Given the description of an element on the screen output the (x, y) to click on. 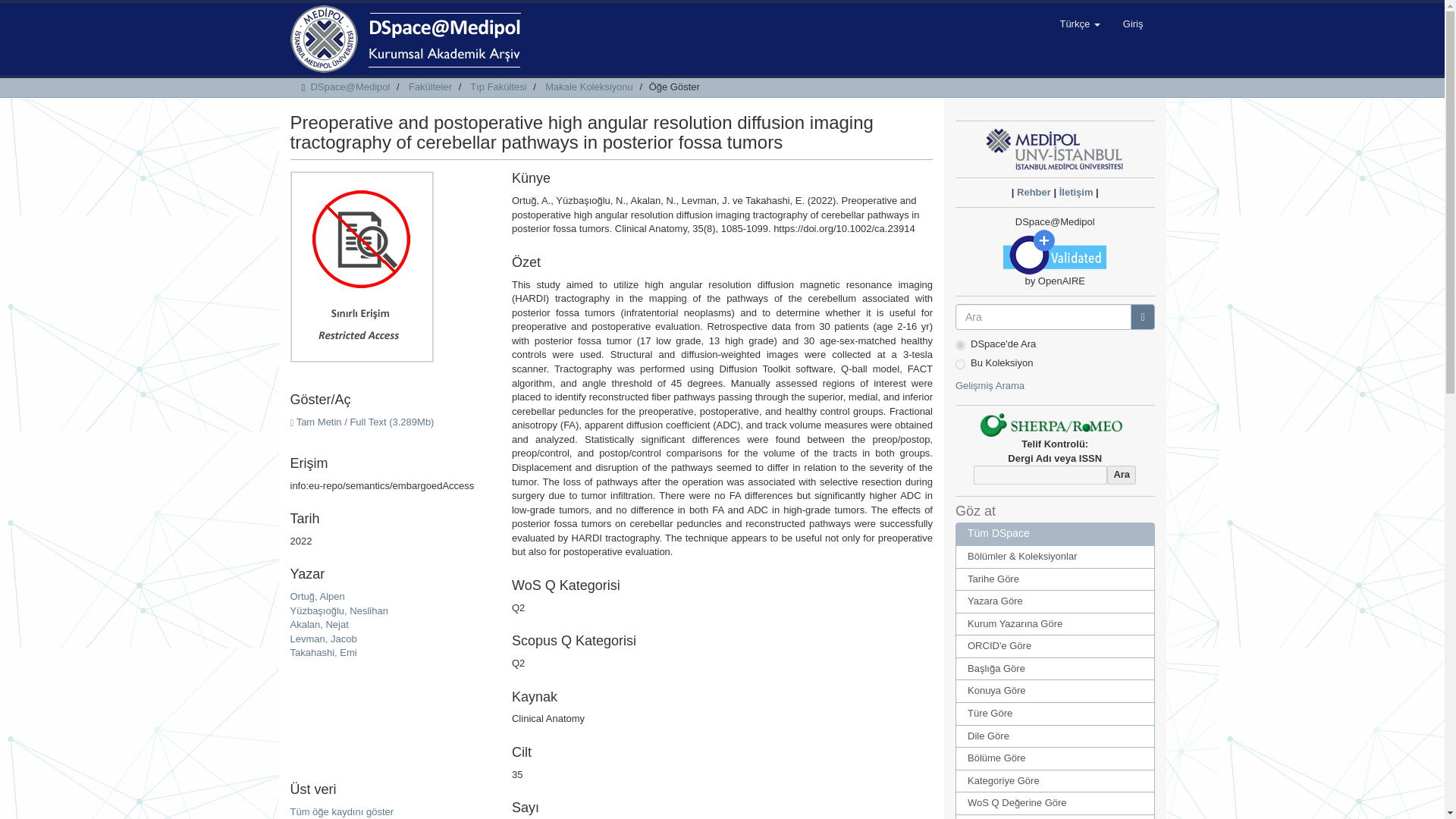
Makale Koleksiyonu (588, 86)
Bul (1142, 316)
Ara (1120, 475)
Takahashi, Emi (322, 652)
Akalan, Nejat (318, 624)
Levman, Jacob (322, 638)
